Given the description of an element on the screen output the (x, y) to click on. 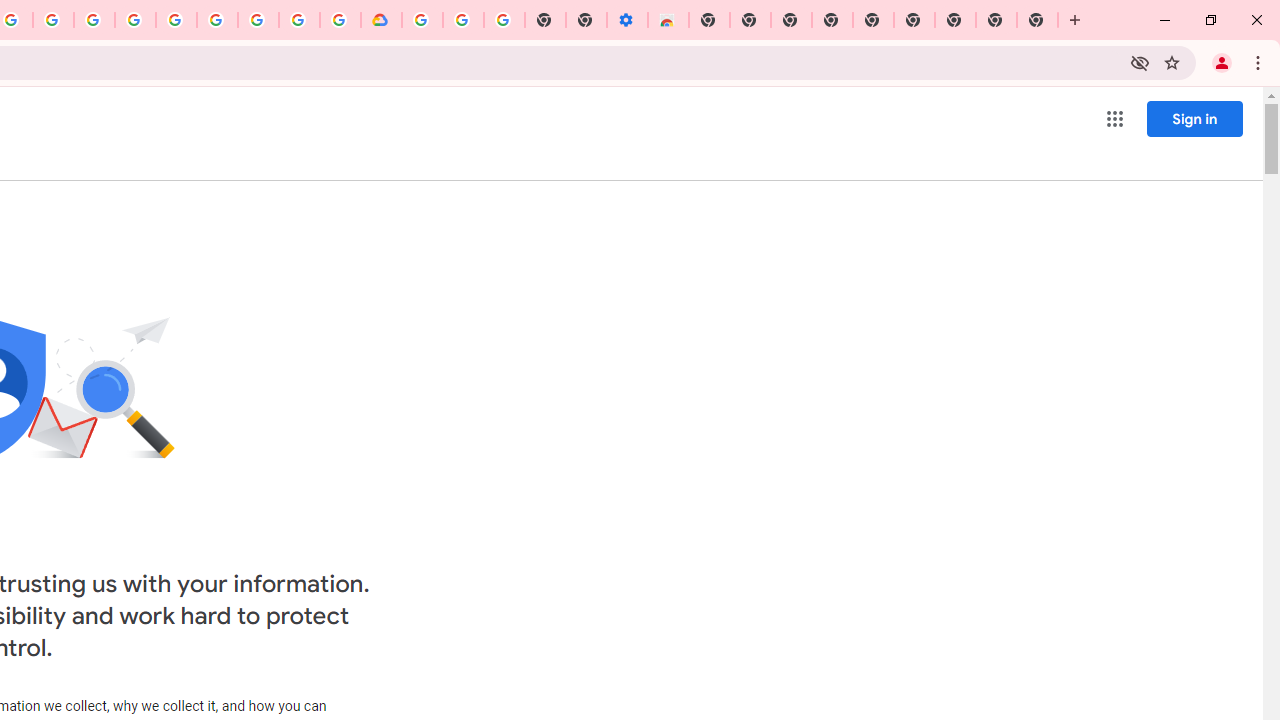
Settings - Accessibility (626, 20)
Google Account Help (217, 20)
Turn cookies on or off - Computer - Google Account Help (503, 20)
Sign in - Google Accounts (421, 20)
Create your Google Account (299, 20)
Ad Settings (135, 20)
Create your Google Account (53, 20)
